Given the description of an element on the screen output the (x, y) to click on. 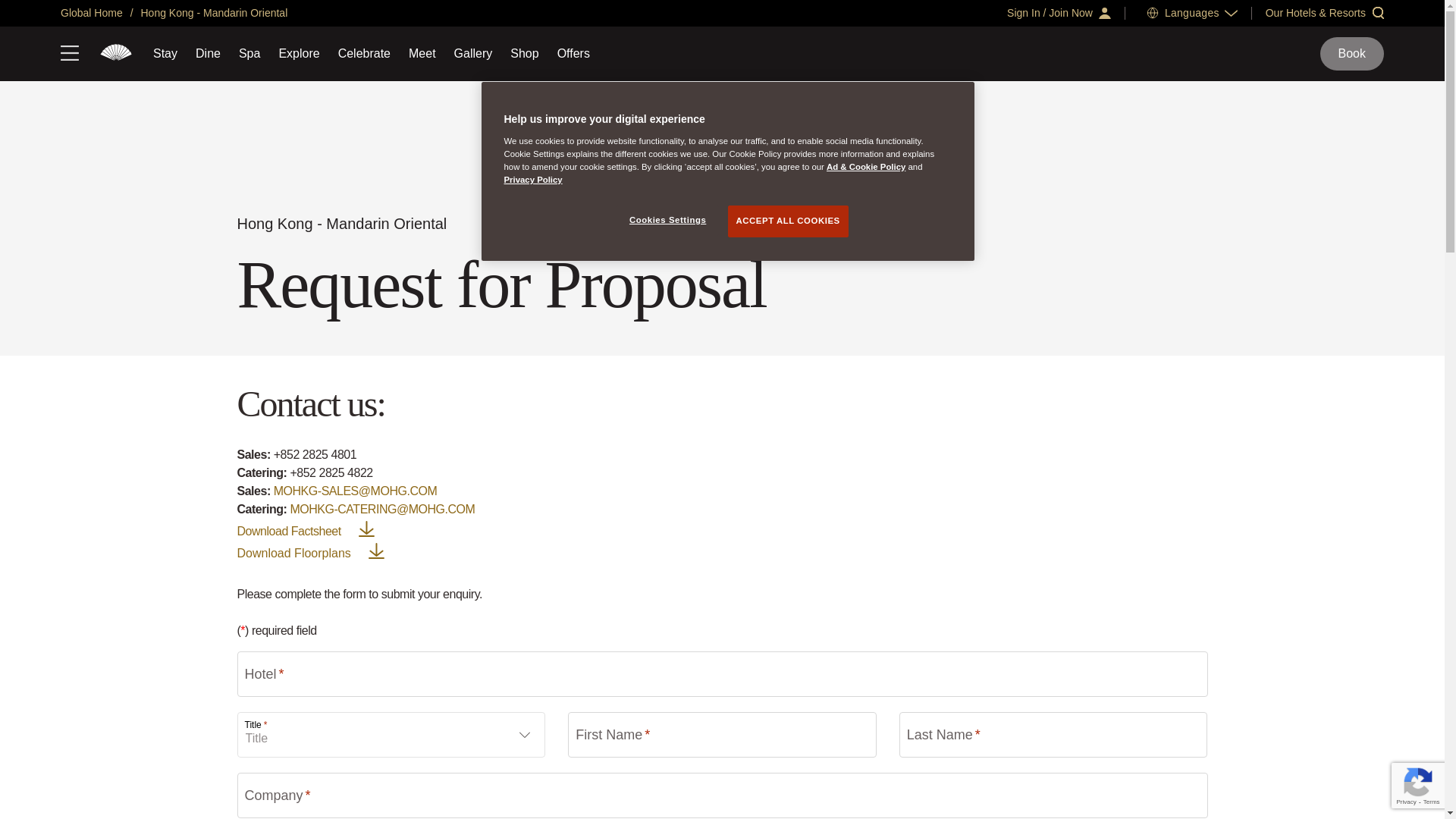
Dine (208, 52)
Offers (573, 52)
Gallery (473, 52)
Book (1352, 53)
Hong Kong - Mandarin Oriental (213, 12)
Celebrate (363, 52)
Hong Kong - Mandarin Oriental (116, 53)
Stay (164, 52)
Languages (1192, 12)
Explore (298, 52)
Global Home (91, 12)
Spa (249, 52)
Shop (524, 52)
Meet (422, 52)
